Given the description of an element on the screen output the (x, y) to click on. 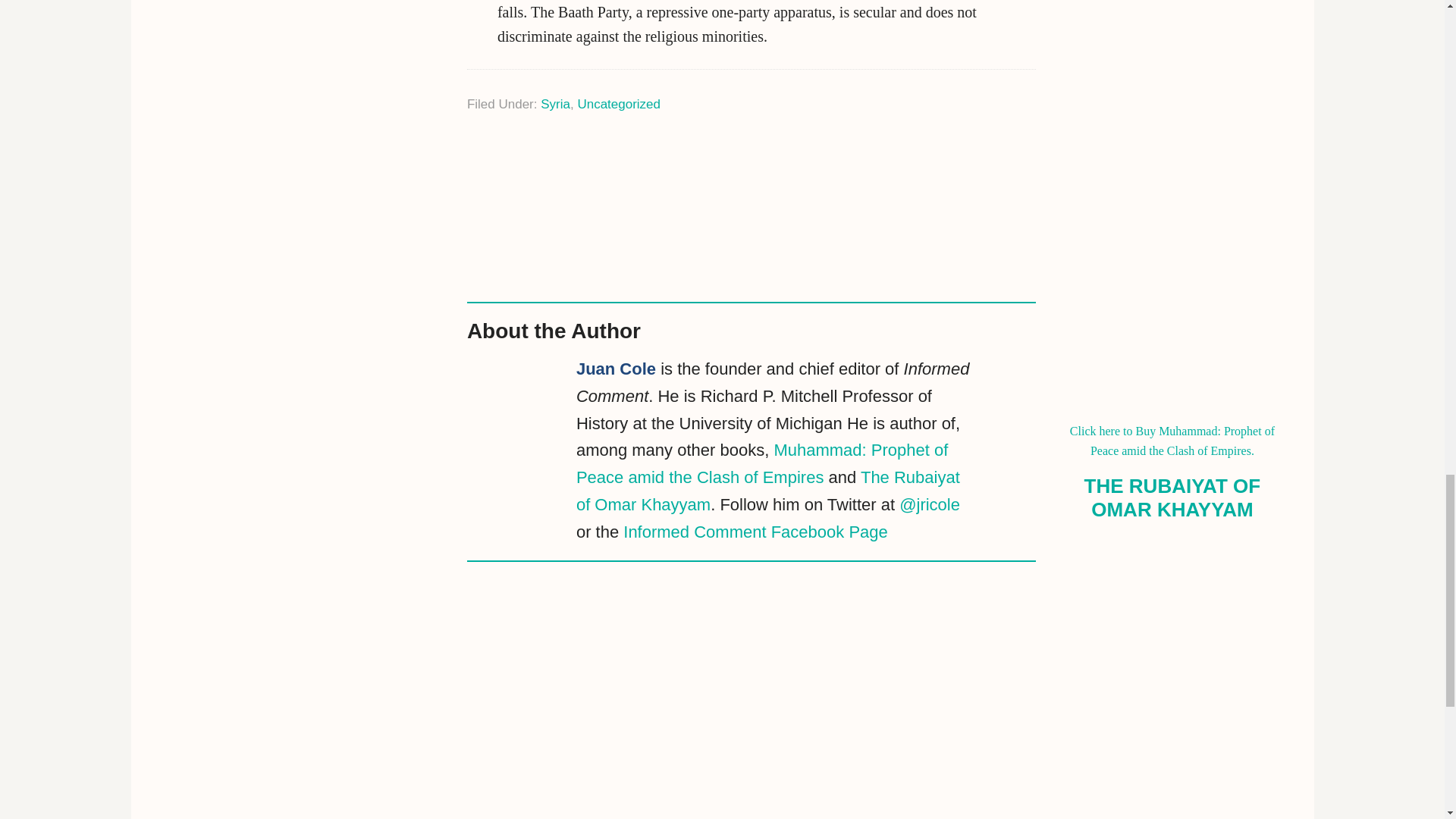
Informed Comment Facebook Page (755, 531)
Syria (555, 104)
Juan Cole (616, 368)
The Rubaiyat of Omar Khayyam (767, 490)
Uncategorized (618, 104)
Muhammad: Prophet of Peace amid the Clash of Empires (761, 463)
